Given the description of an element on the screen output the (x, y) to click on. 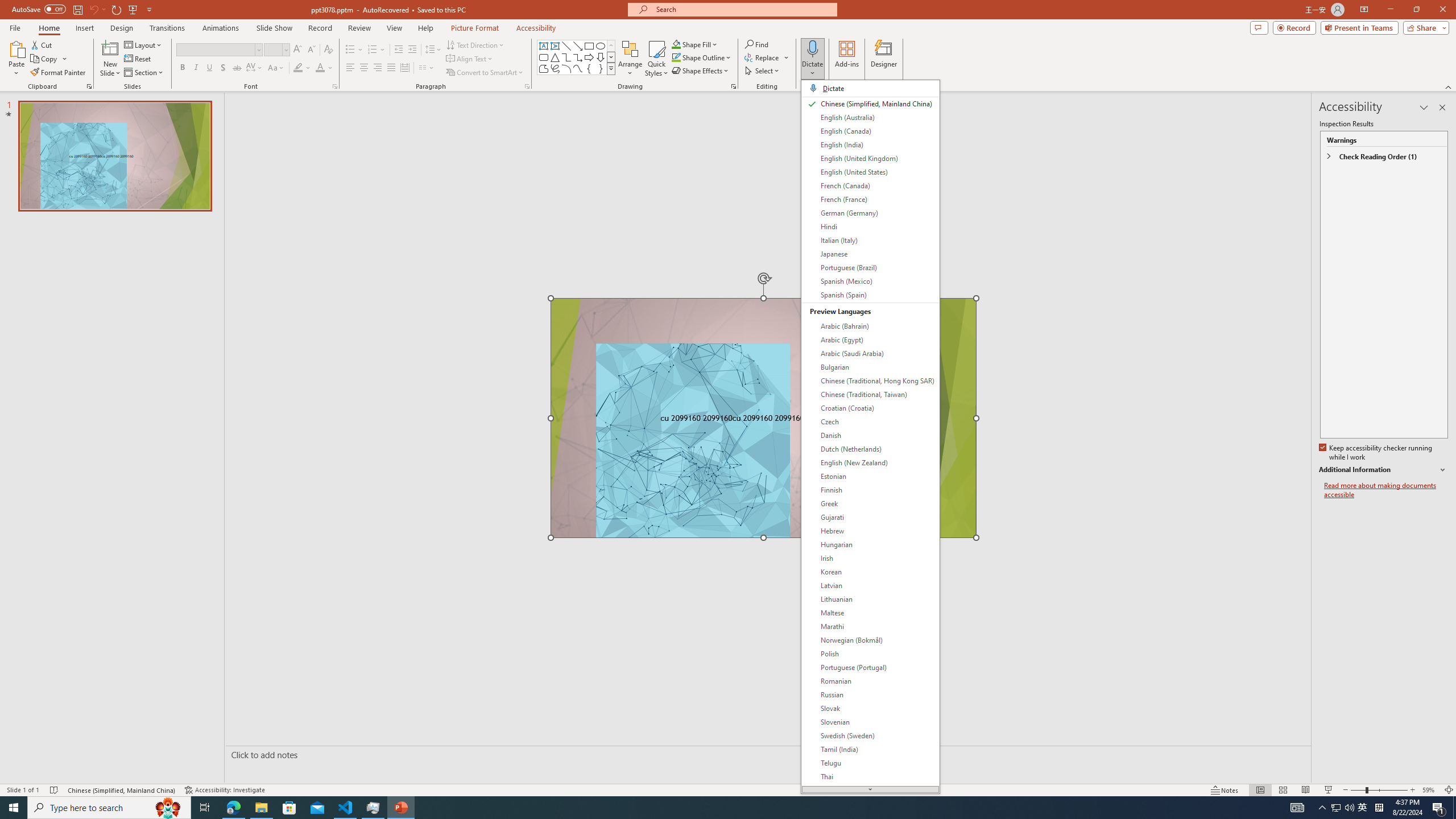
&Dictate (870, 436)
